Given the description of an element on the screen output the (x, y) to click on. 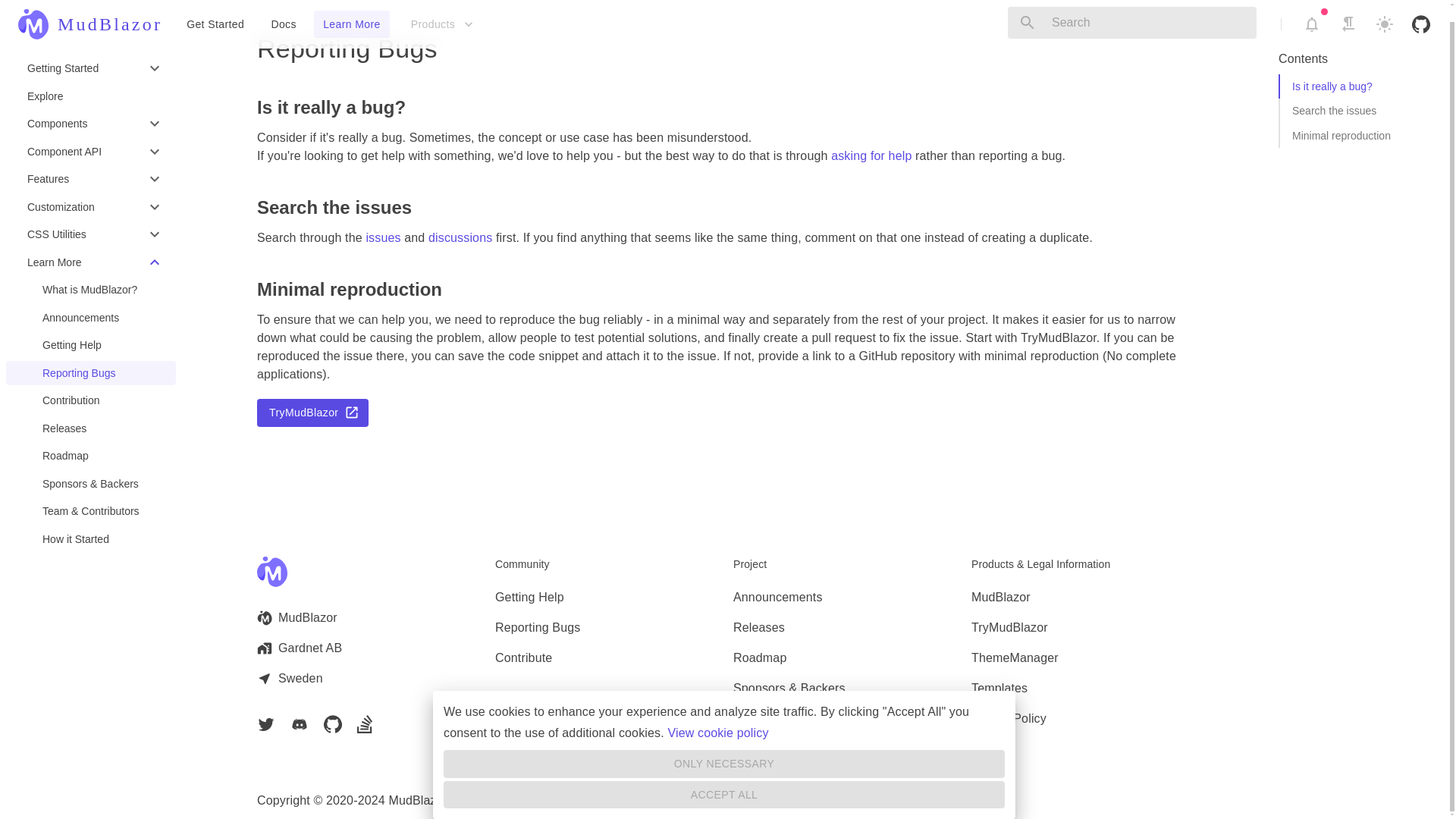
Explore (90, 80)
Get Started (215, 11)
Learn More (352, 11)
Docs (283, 11)
Products (441, 11)
Getting Started (90, 53)
MudBlazor (89, 12)
Components (90, 108)
